Given the description of an element on the screen output the (x, y) to click on. 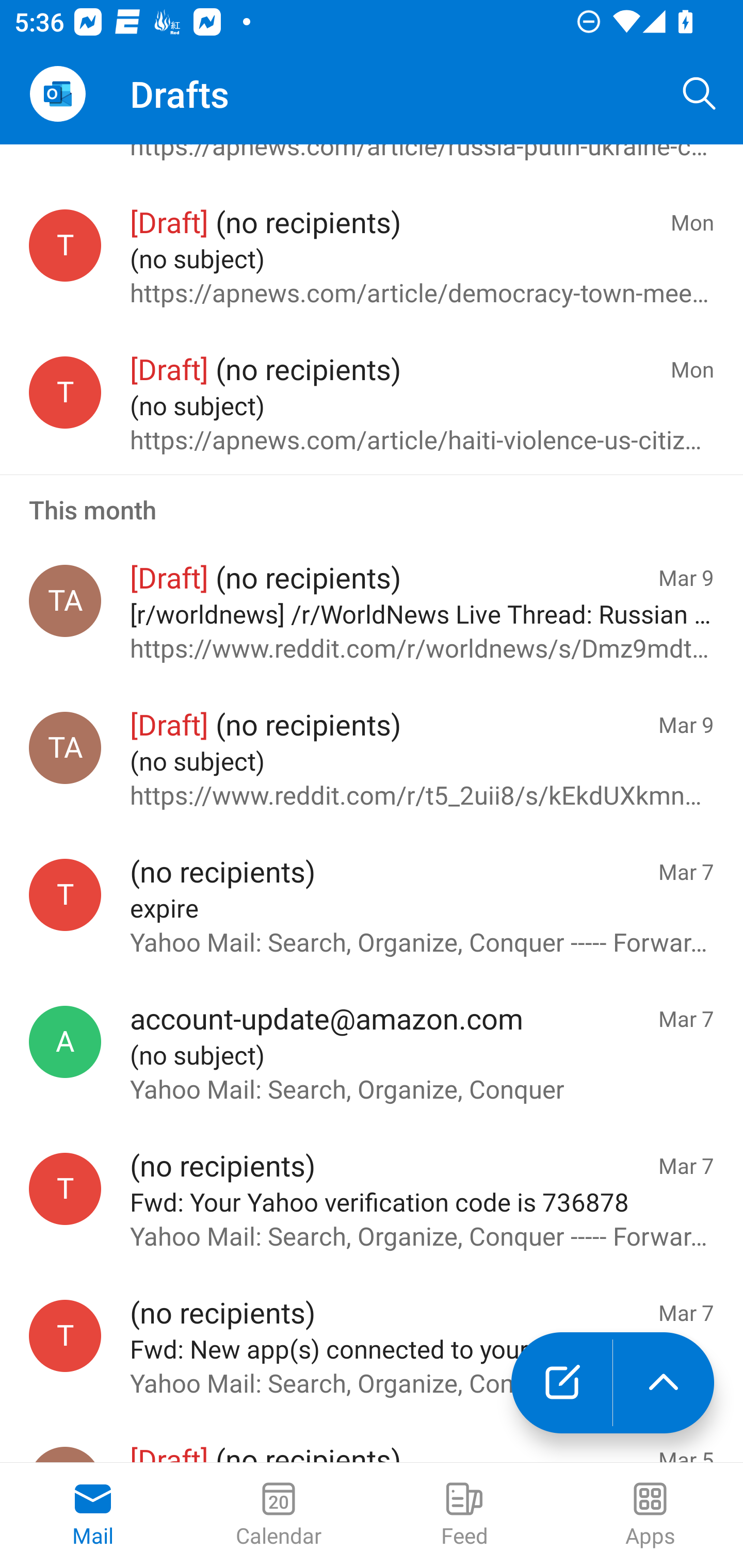
Search, ,  (699, 93)
Open Navigation Drawer (57, 94)
testappium002@outlook.com (64, 246)
testappium002@outlook.com (64, 391)
Test Appium, testappium002@outlook.com (64, 600)
Test Appium, testappium002@outlook.com (64, 747)
testappium002@outlook.com (64, 895)
testappium002@outlook.com (64, 1188)
testappium002@outlook.com (64, 1335)
New mail (561, 1382)
launch the extended action menu (663, 1382)
Calendar (278, 1515)
Feed (464, 1515)
Apps (650, 1515)
